Given the description of an element on the screen output the (x, y) to click on. 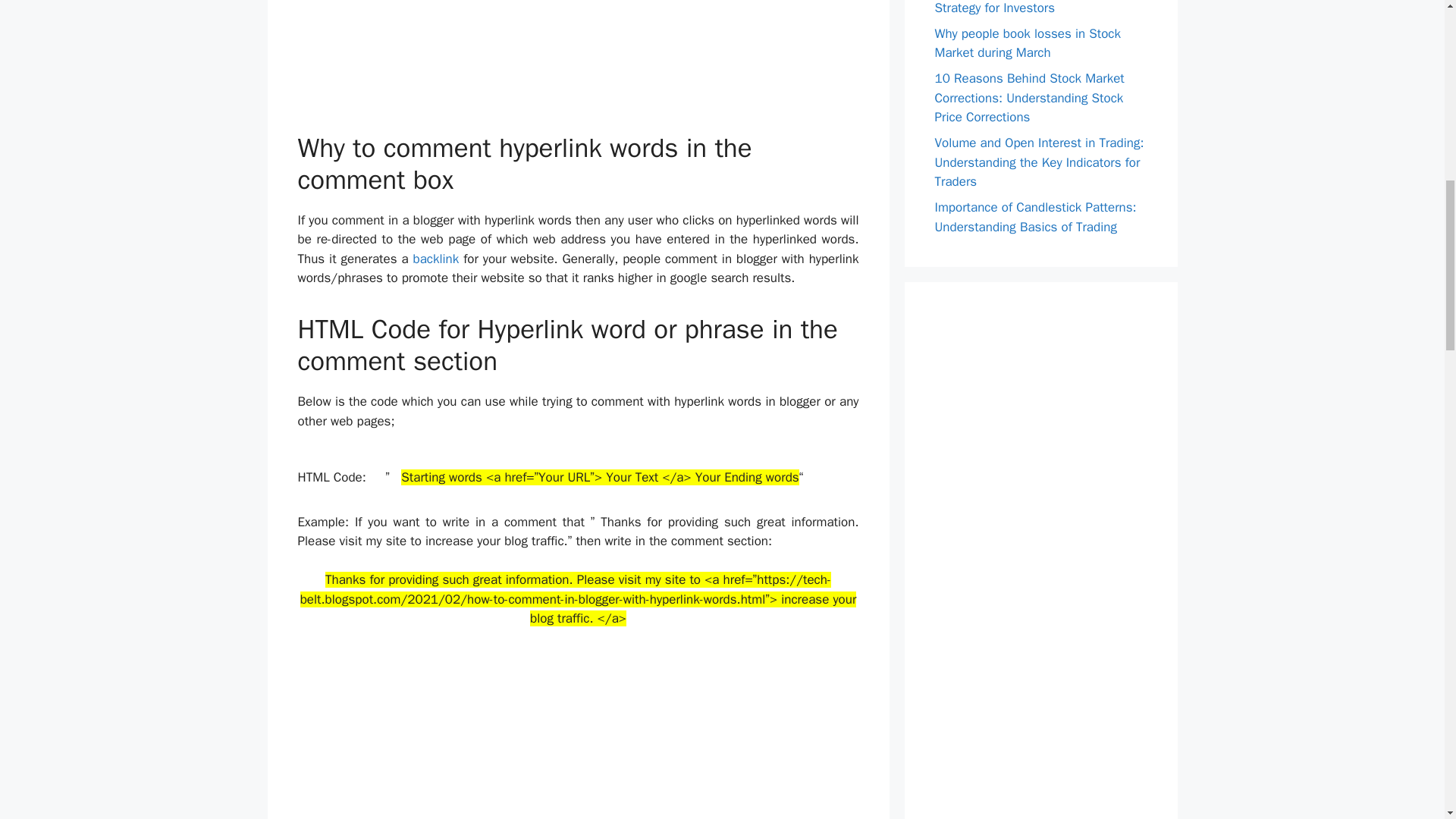
Advertisement (578, 65)
Advertisement (578, 733)
backlink (435, 258)
Why people book losses in Stock Market during March (1027, 43)
Four Week Rule in Stock Market: A Strategy for Investors (1031, 7)
